Given the description of an element on the screen output the (x, y) to click on. 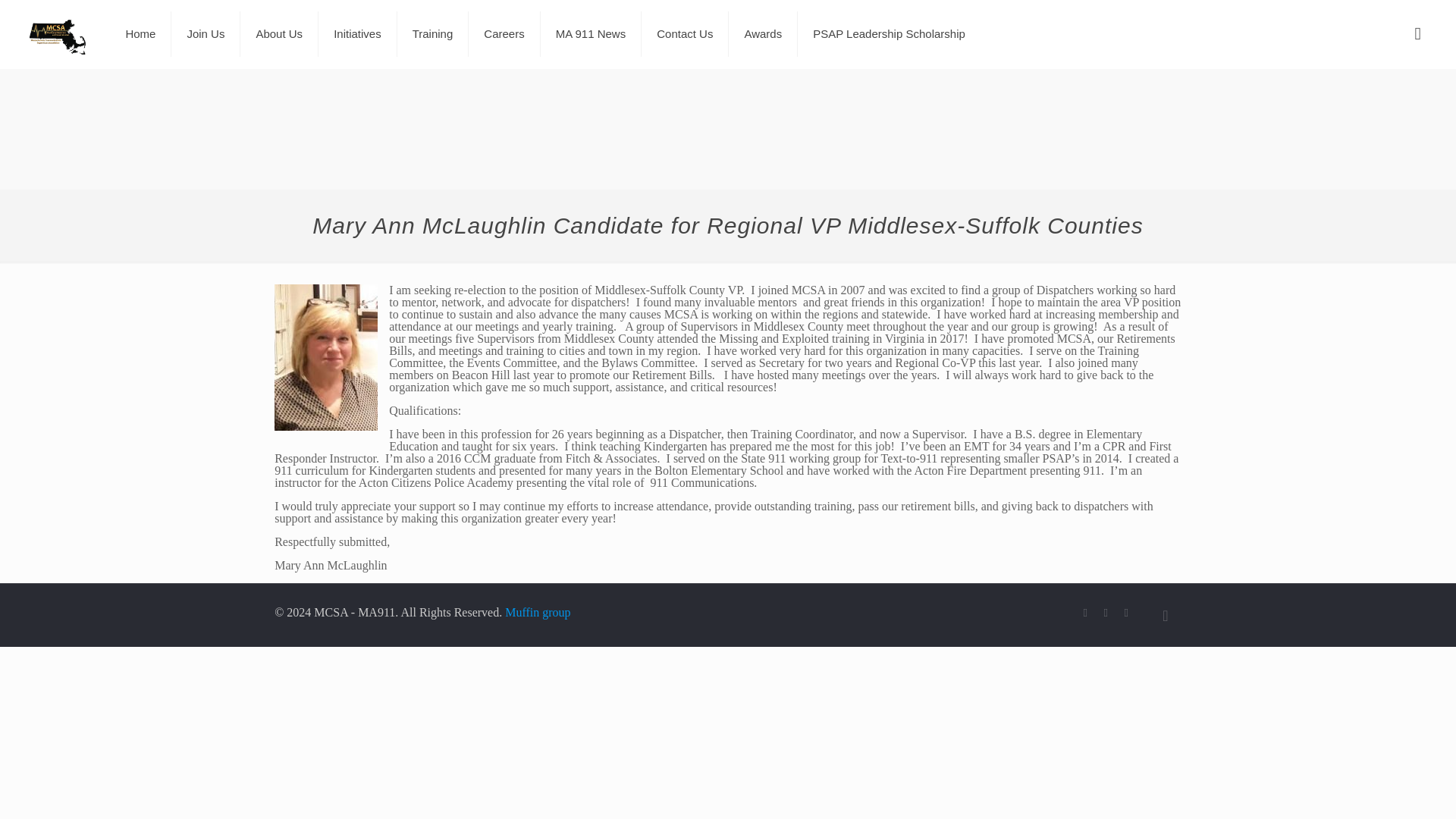
Careers (504, 33)
Join Us (205, 33)
Twitter (1105, 612)
Contact Us (685, 33)
Training (432, 33)
RSS (1126, 612)
Home (140, 33)
MA 911 News (591, 33)
About Us (279, 33)
Facebook (1085, 612)
PSAP Leadership Scholarship (888, 33)
Initiatives (357, 33)
Awards (763, 33)
